Given the description of an element on the screen output the (x, y) to click on. 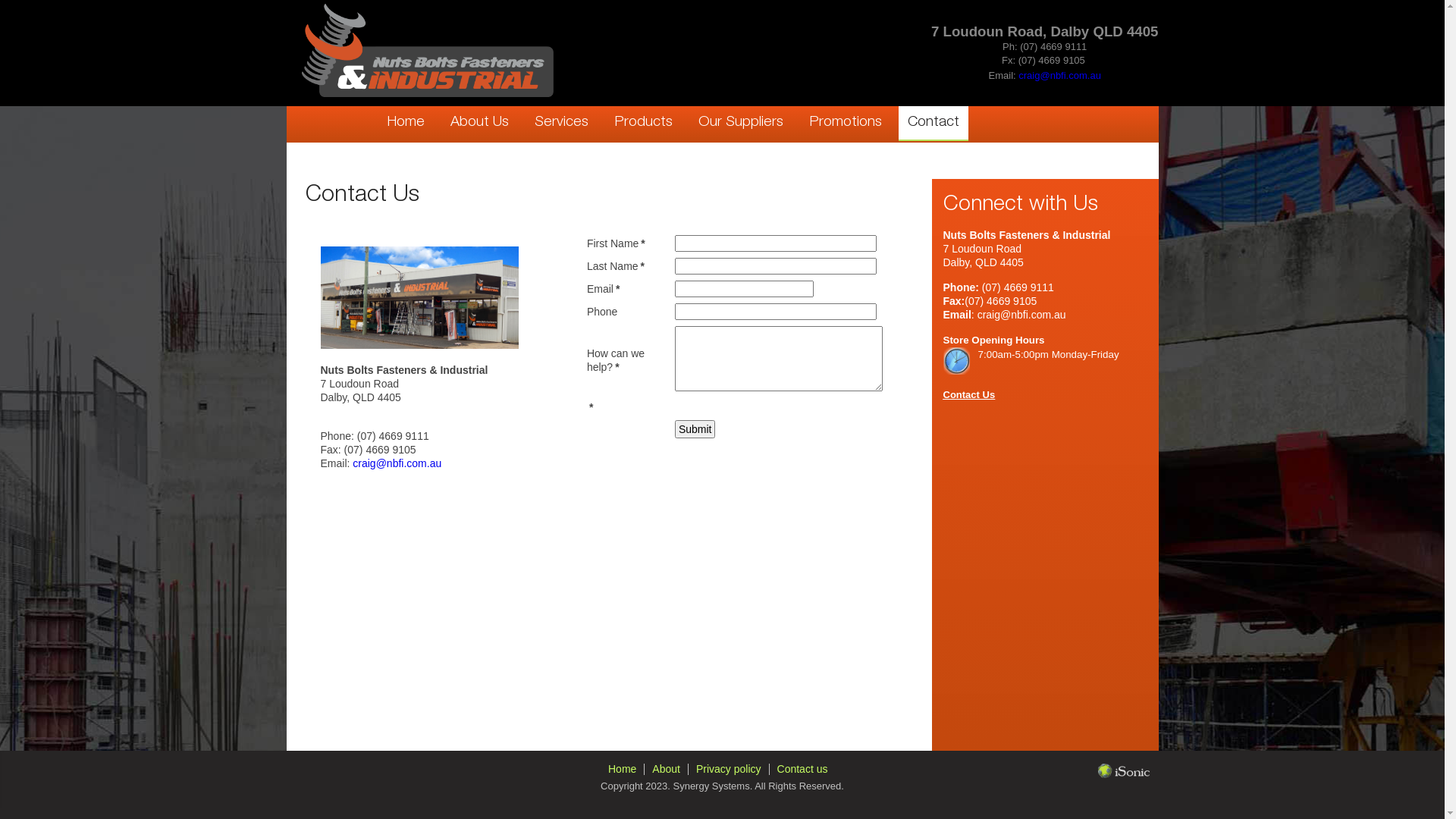
Contact Us Element type: text (969, 394)
Services Element type: text (560, 122)
Our Suppliers Element type: text (739, 122)
About Element type: text (666, 768)
Contact us Element type: text (802, 768)
craig@nbfi.com.au Element type: text (1059, 75)
craig@nbfi.com.au Element type: text (396, 463)
Products Element type: text (643, 122)
craig@nbfi.com.au Element type: text (1021, 314)
Home Element type: text (622, 768)
Privacy policy Element type: text (728, 768)
About Us Element type: text (479, 122)
Contact Element type: text (932, 123)
Submit Element type: text (694, 429)
Home Element type: text (405, 122)
Promotions Element type: text (844, 122)
